Given the description of an element on the screen output the (x, y) to click on. 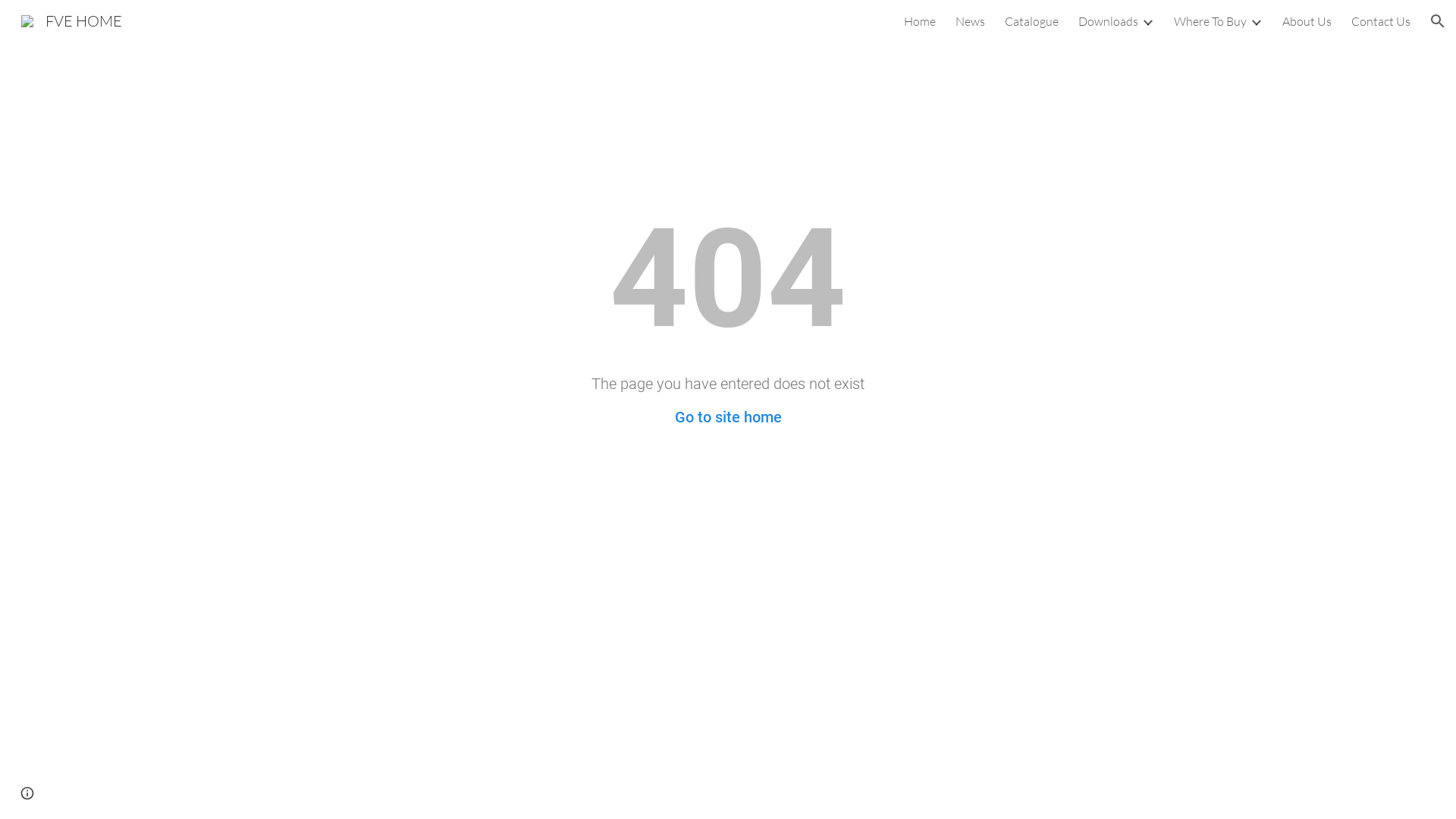
Contact Us Element type: text (1380, 20)
FVE HOME Element type: text (71, 18)
Catalogue Element type: text (1031, 20)
Go to site home Element type: text (727, 416)
Home Element type: text (919, 20)
Expand/Collapse Element type: hover (1255, 20)
Expand/Collapse Element type: hover (1147, 20)
News Element type: text (970, 20)
About Us Element type: text (1306, 20)
Where To Buy Element type: text (1209, 20)
Downloads Element type: text (1108, 20)
